Given the description of an element on the screen output the (x, y) to click on. 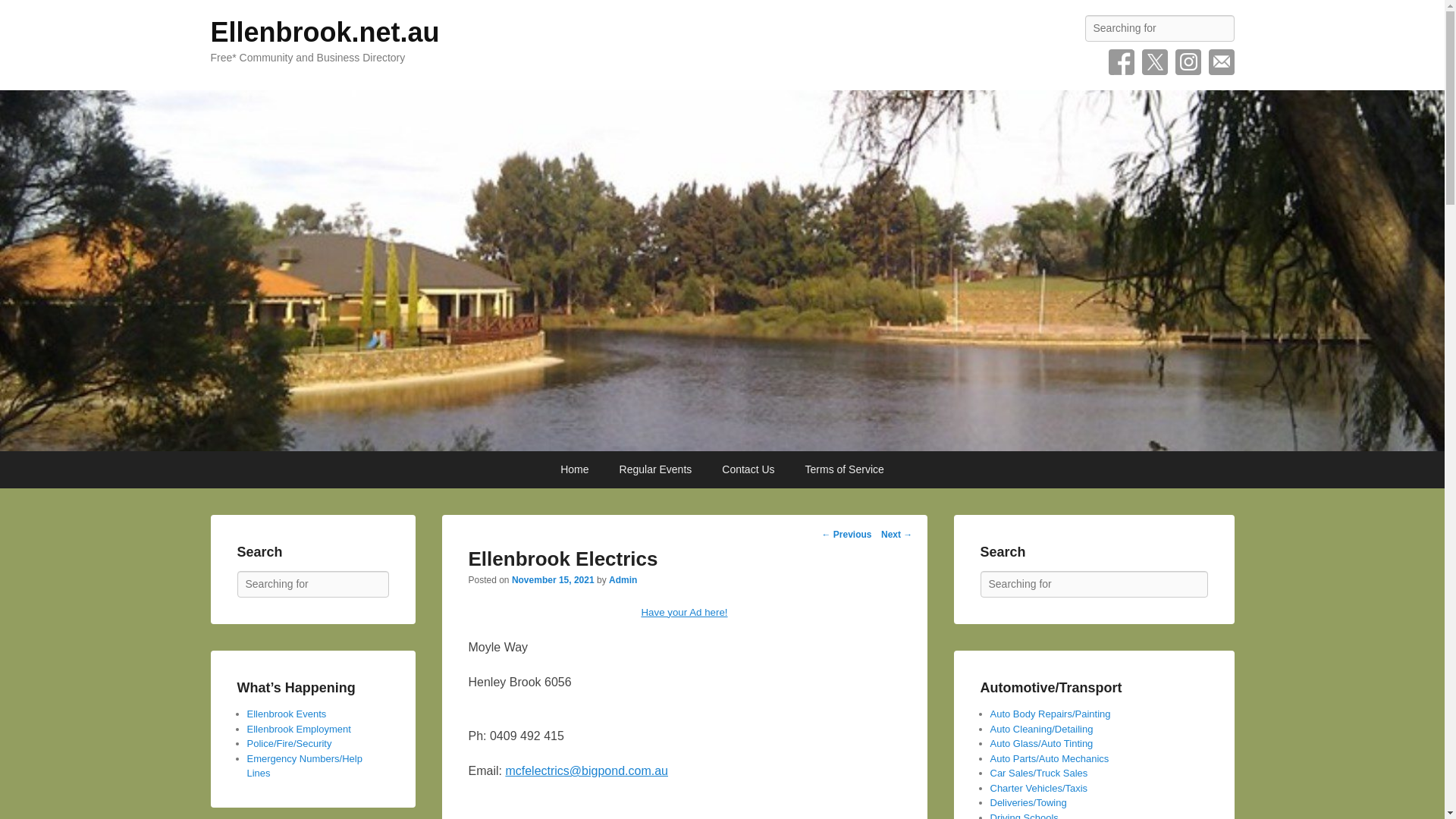
Email (1221, 62)
Contact Us (747, 469)
Facebook (1121, 62)
Terms of Service (844, 469)
Ellenbrook.net.au (325, 31)
Instagram (1187, 62)
Home (574, 469)
View all posts by Admin (622, 579)
Ellenbrook.net.au (325, 31)
Email (1221, 62)
November 15, 2021 (553, 579)
Facebook (1121, 62)
Have your Ad here! (683, 612)
Twitter (1154, 62)
